Given the description of an element on the screen output the (x, y) to click on. 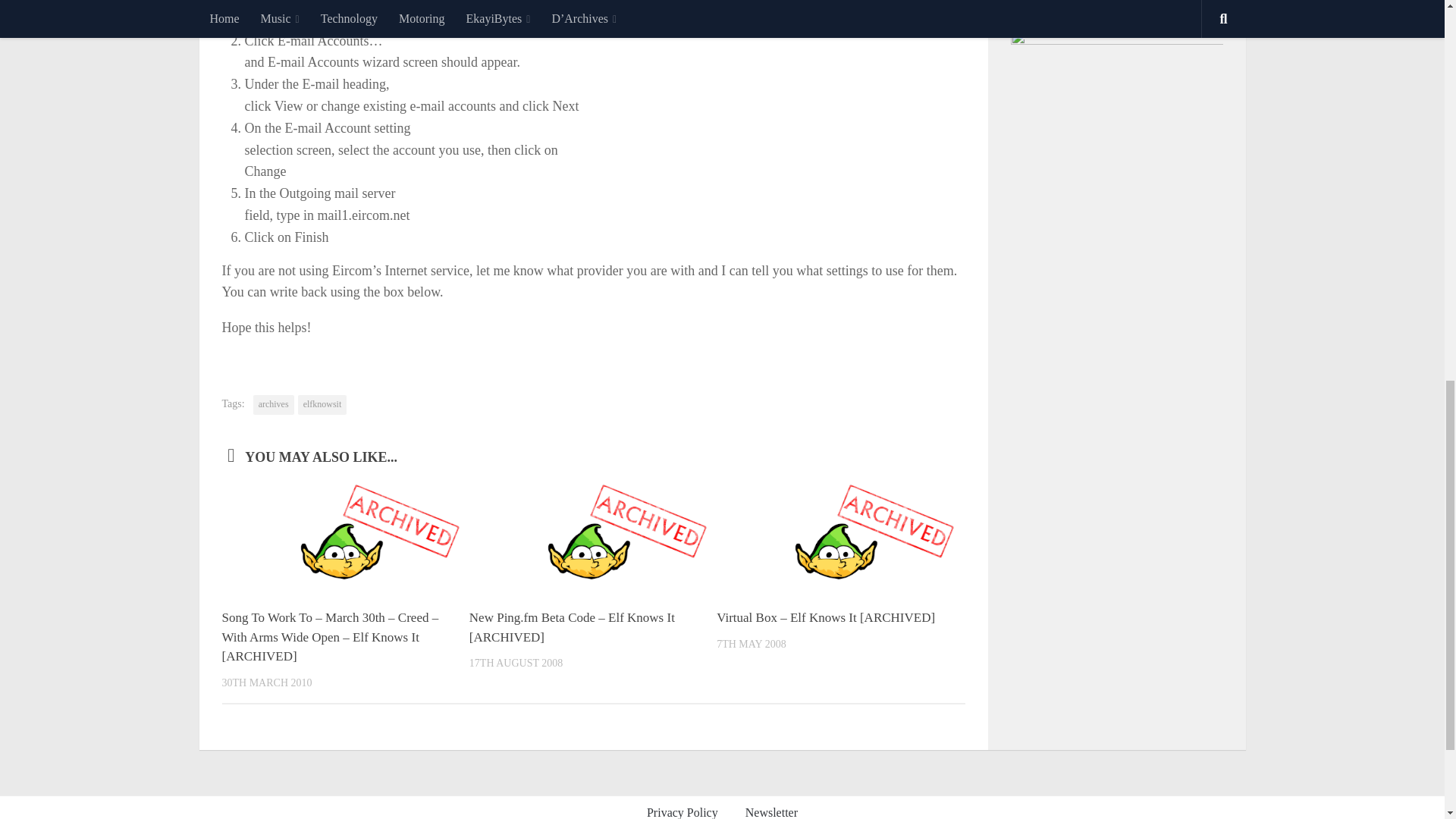
archives (273, 404)
